Given the description of an element on the screen output the (x, y) to click on. 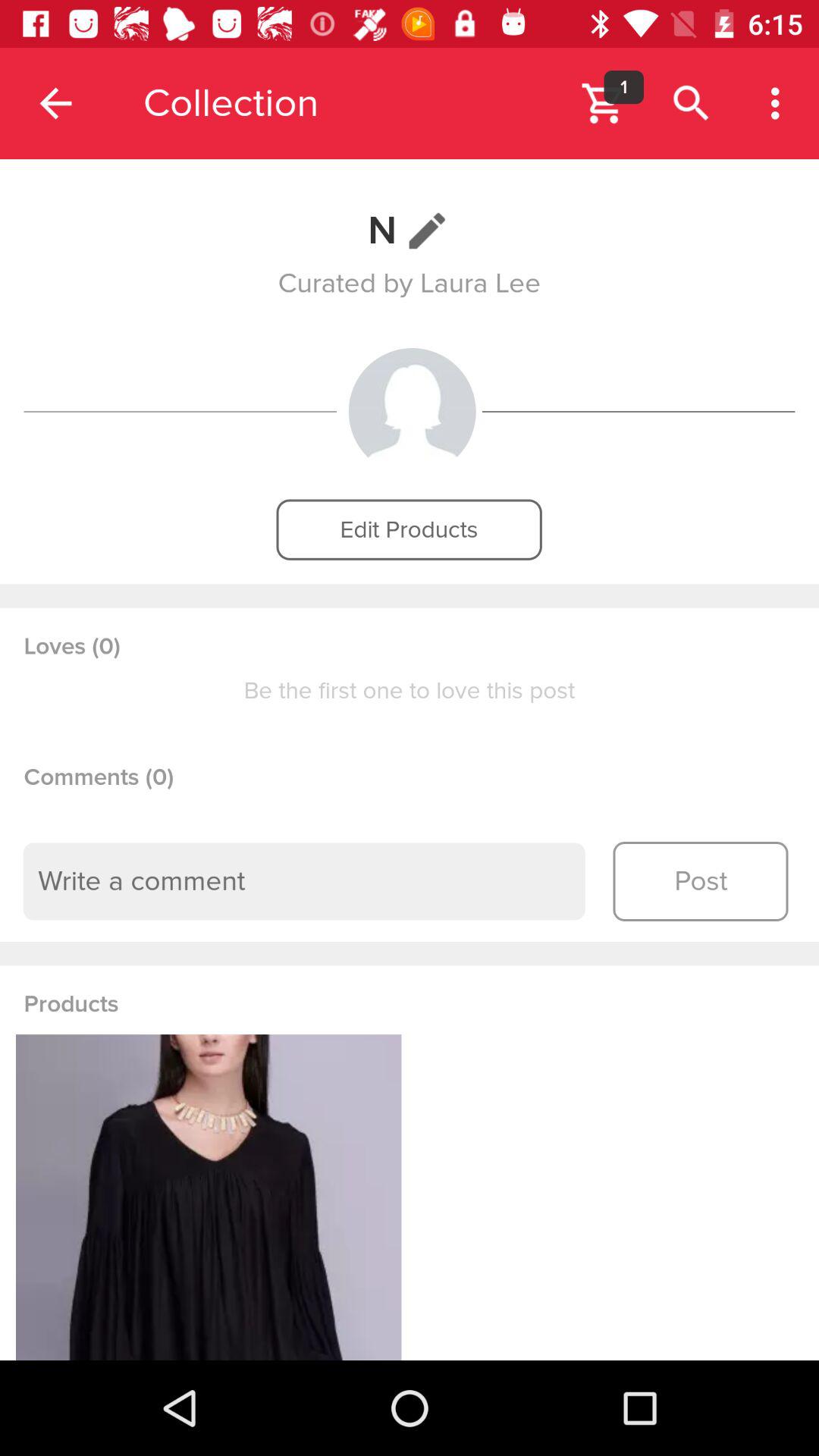
press the item to the left of the collection (55, 103)
